Given the description of an element on the screen output the (x, y) to click on. 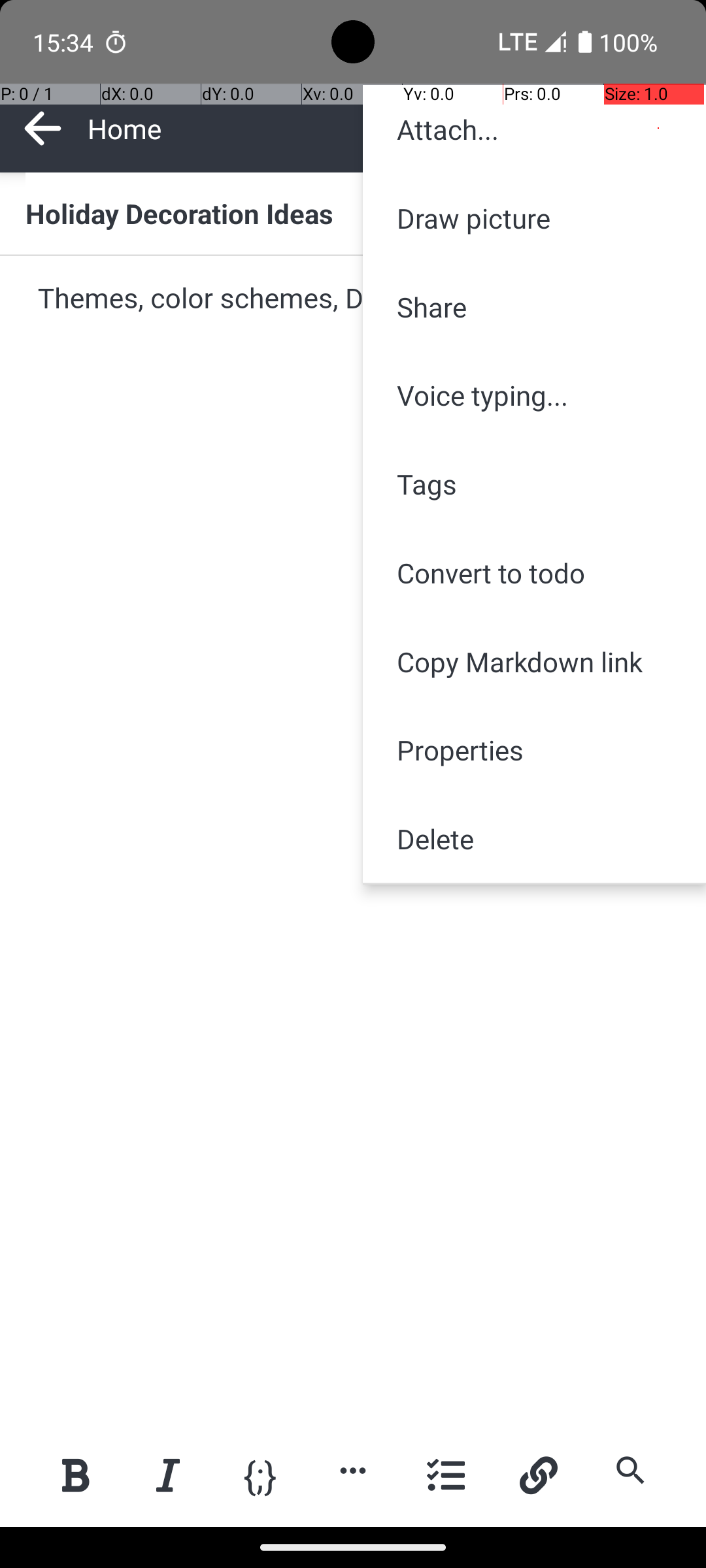
Holiday Decoration Ideas Element type: android.widget.EditText (352, 213)
Convert to todo Element type: android.widget.TextView (534, 572)
Themes, color schemes, DIY crafts, shopping list. Element type: android.widget.EditText (354, 298)
